Given the description of an element on the screen output the (x, y) to click on. 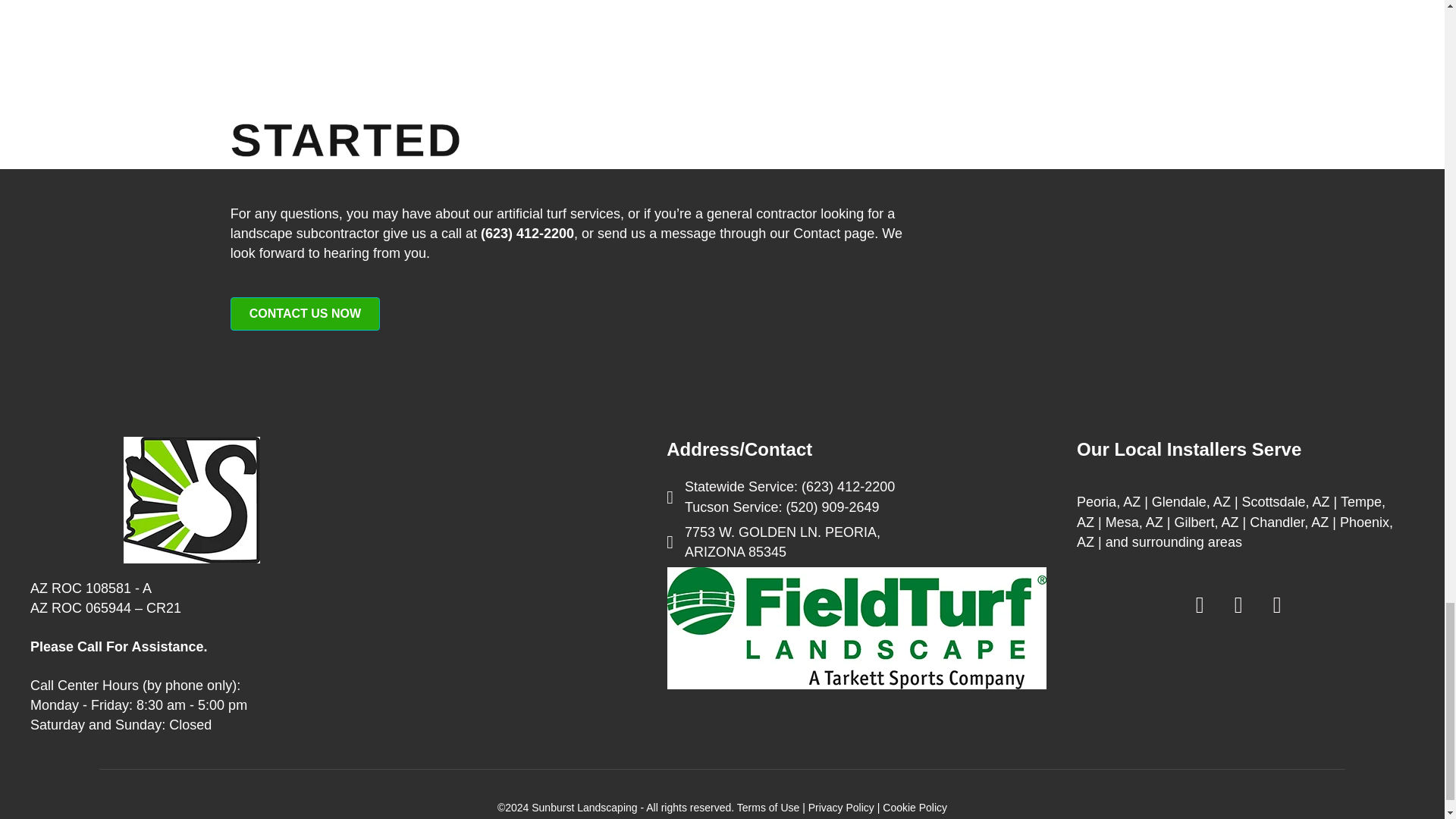
Sunburst S in AZ State Shape (191, 499)
FieldTurf Landscape logo (856, 628)
